Given the description of an element on the screen output the (x, y) to click on. 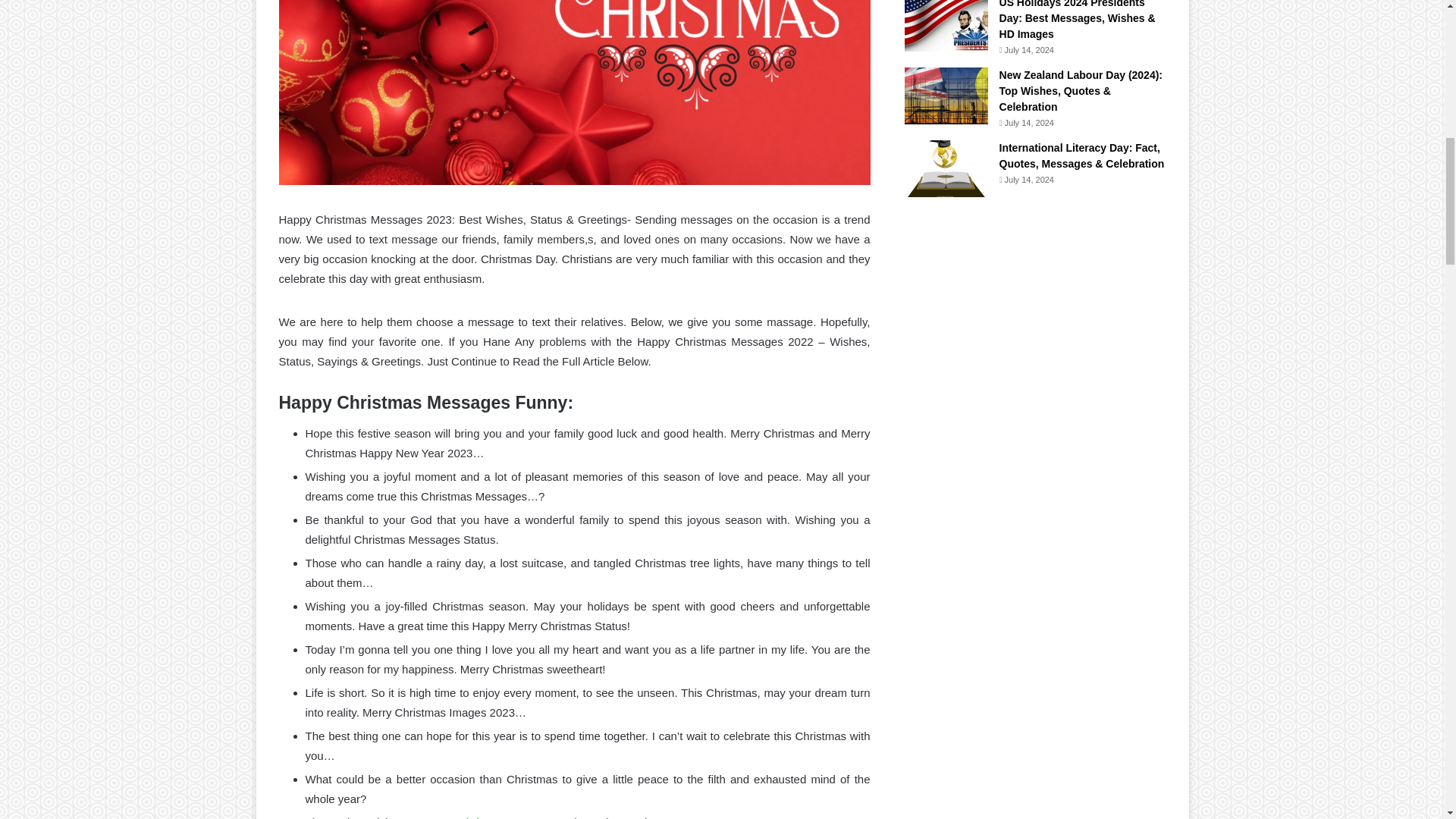
Merry Christmas Day 2023 (492, 817)
